Given the description of an element on the screen output the (x, y) to click on. 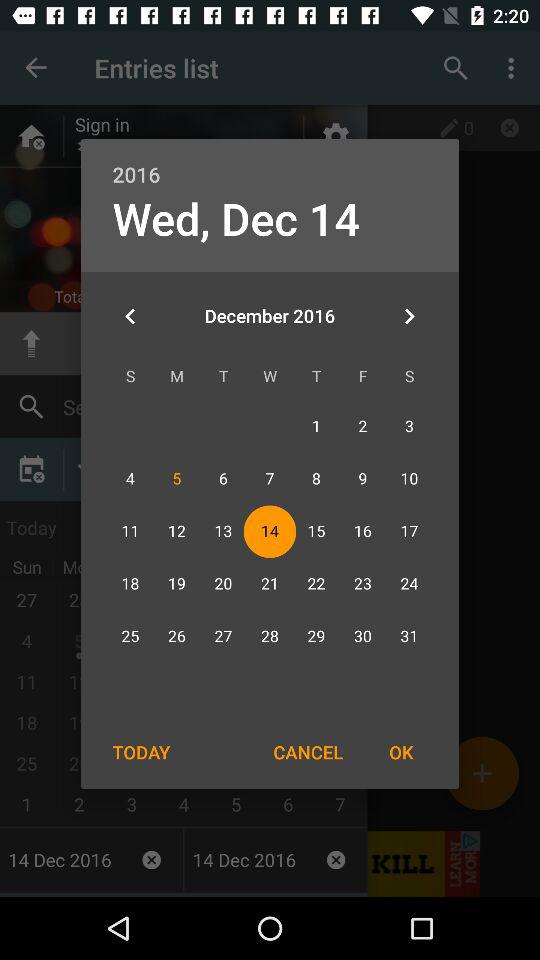
flip until the cancel item (308, 751)
